Given the description of an element on the screen output the (x, y) to click on. 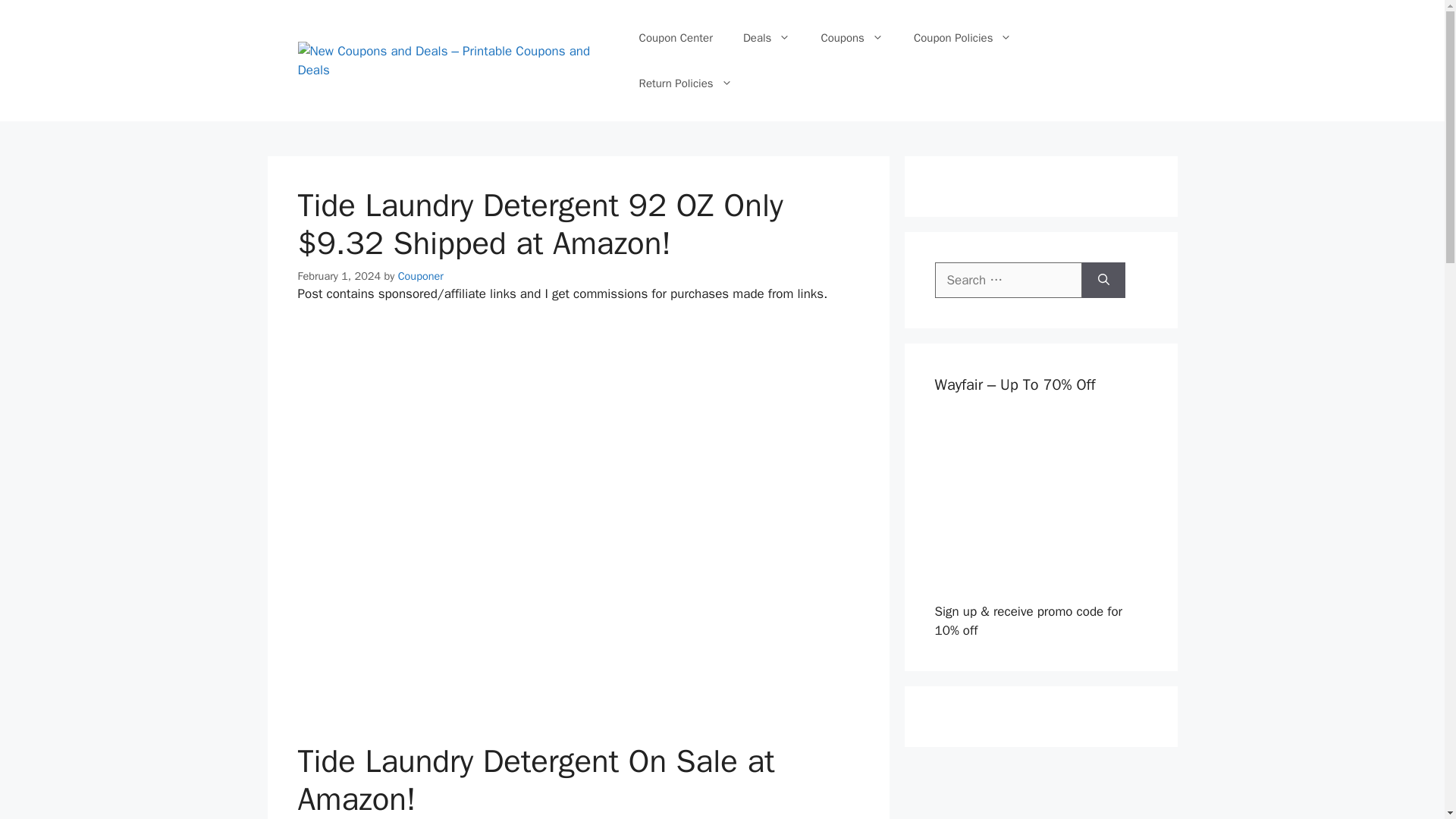
Coupon Center (676, 37)
Coupons (851, 37)
Deals (766, 37)
Search for: (1007, 280)
View all posts by Couponer (420, 274)
